Given the description of an element on the screen output the (x, y) to click on. 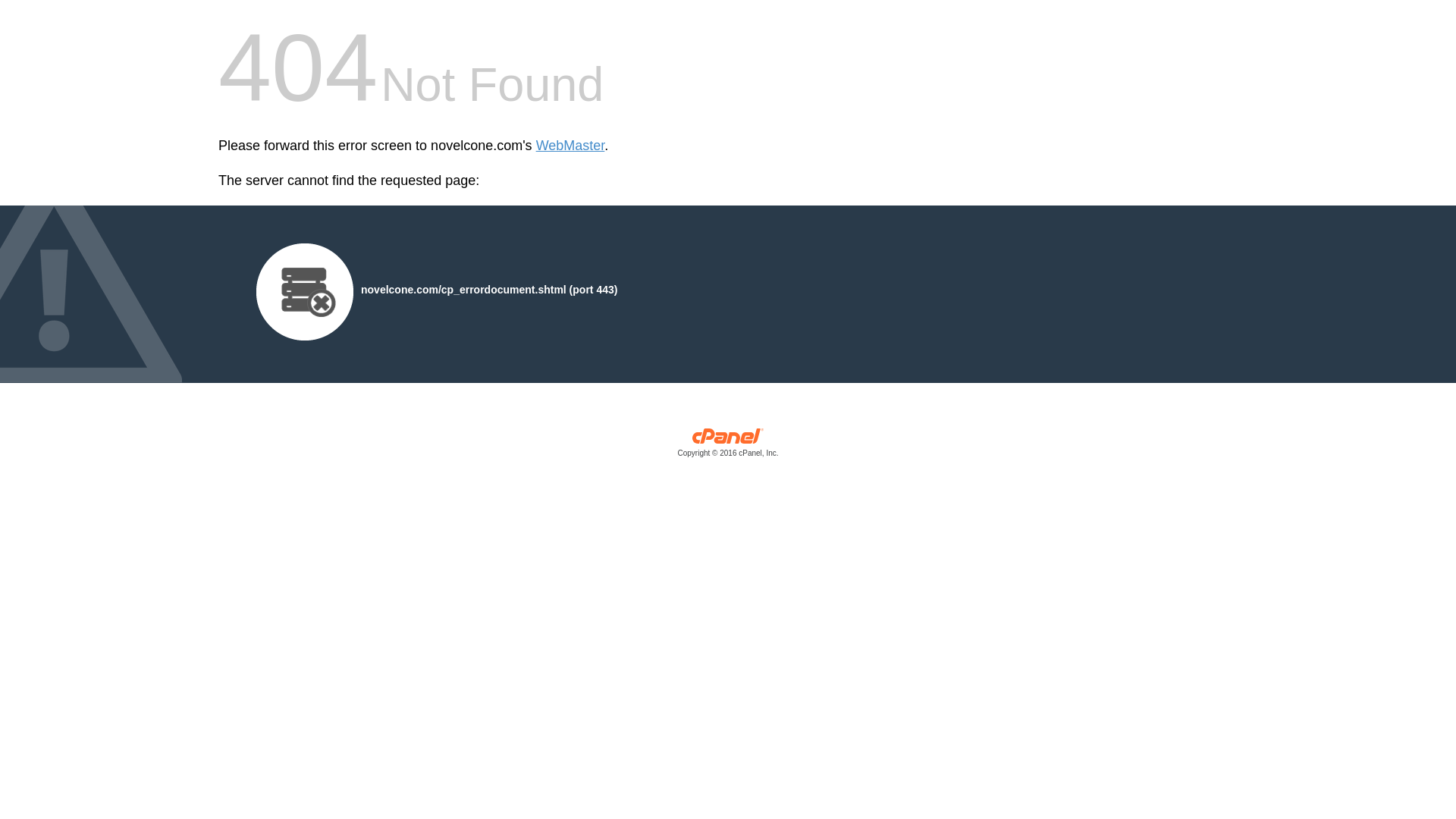
cPanel, Inc. (727, 446)
WebMaster (570, 145)
